Given the description of an element on the screen output the (x, y) to click on. 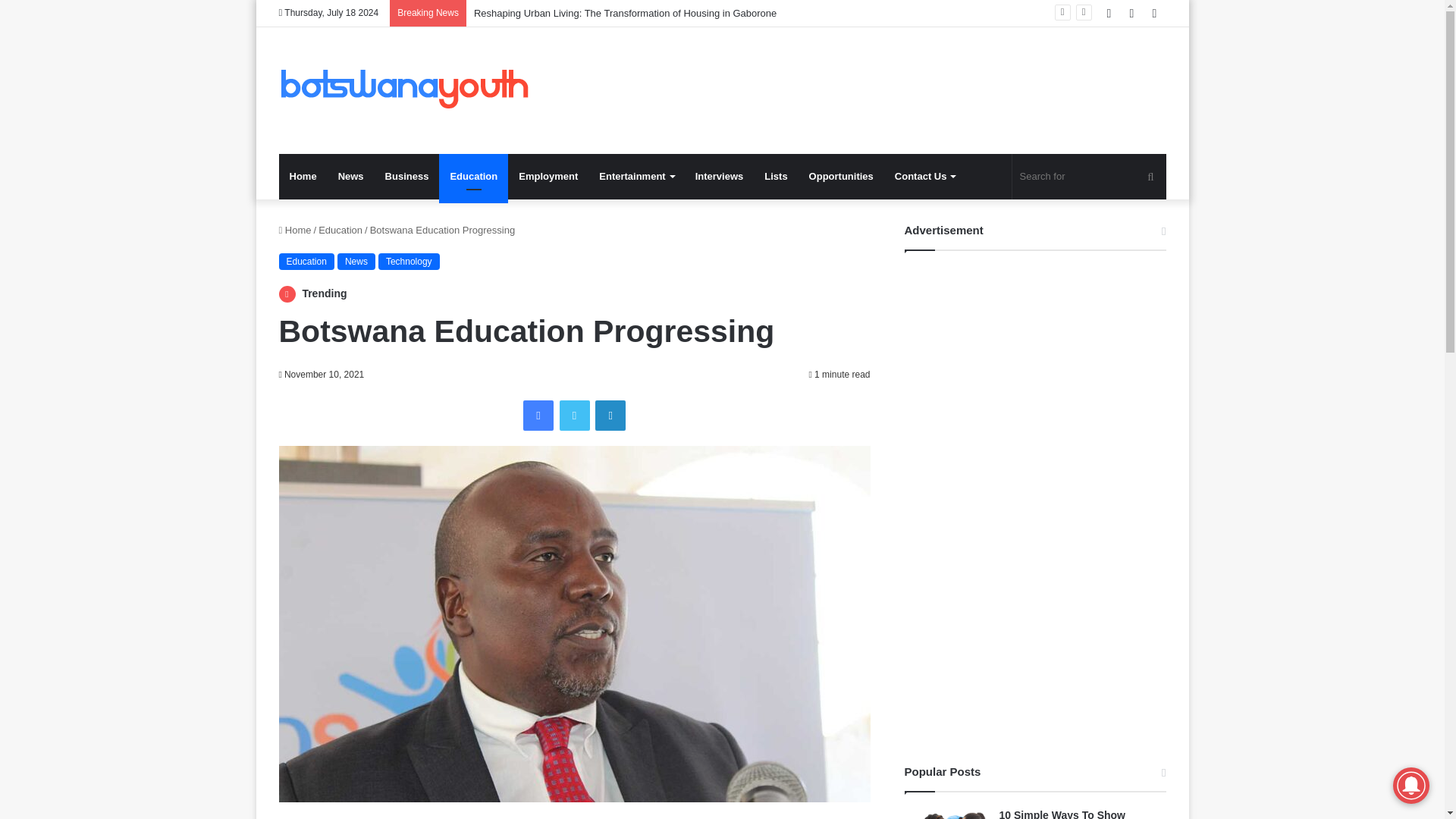
Home (295, 229)
Education (340, 229)
Interviews (719, 176)
Facebook (537, 415)
Entertainment (636, 176)
Facebook (537, 415)
Employment (548, 176)
Twitter (574, 415)
LinkedIn (610, 415)
Botswana Youth Magazine (404, 90)
Lists (775, 176)
Advertisement (873, 76)
News (356, 261)
Technology (408, 261)
Business (406, 176)
